Given the description of an element on the screen output the (x, y) to click on. 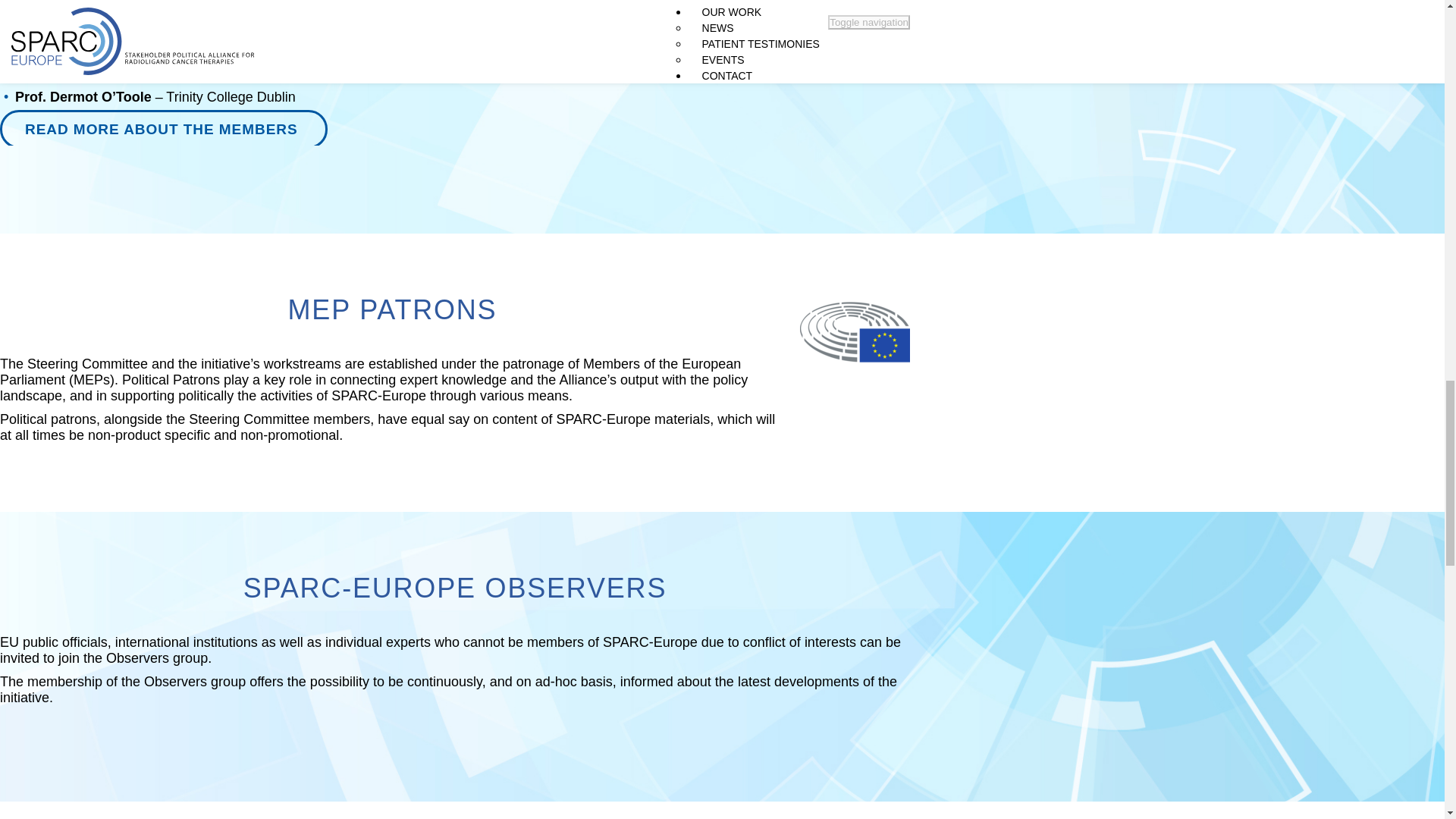
Europa UOMO (218, 5)
READ MORE ABOUT THE MEMBERS  (163, 128)
